Given the description of an element on the screen output the (x, y) to click on. 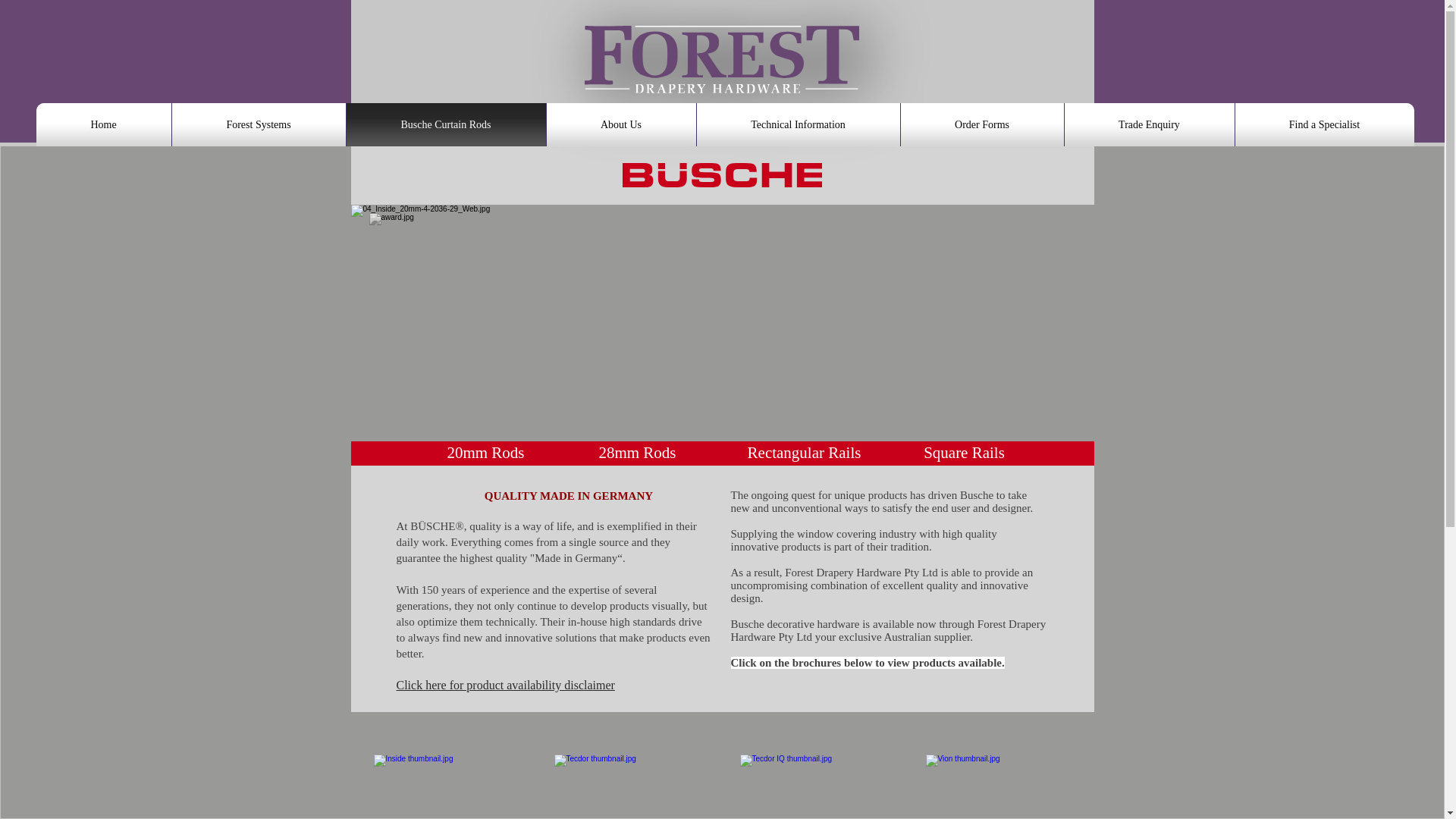
Rectangular Rails (803, 453)
Home (103, 124)
Busche Curtain Rods (445, 124)
Trade Enquiry (1148, 124)
Forest Systems (259, 124)
Square Rails (964, 453)
About Us (621, 124)
28mm Rods (636, 453)
Click here for product availability disclaimer (505, 684)
Order Forms (981, 124)
